Given the description of an element on the screen output the (x, y) to click on. 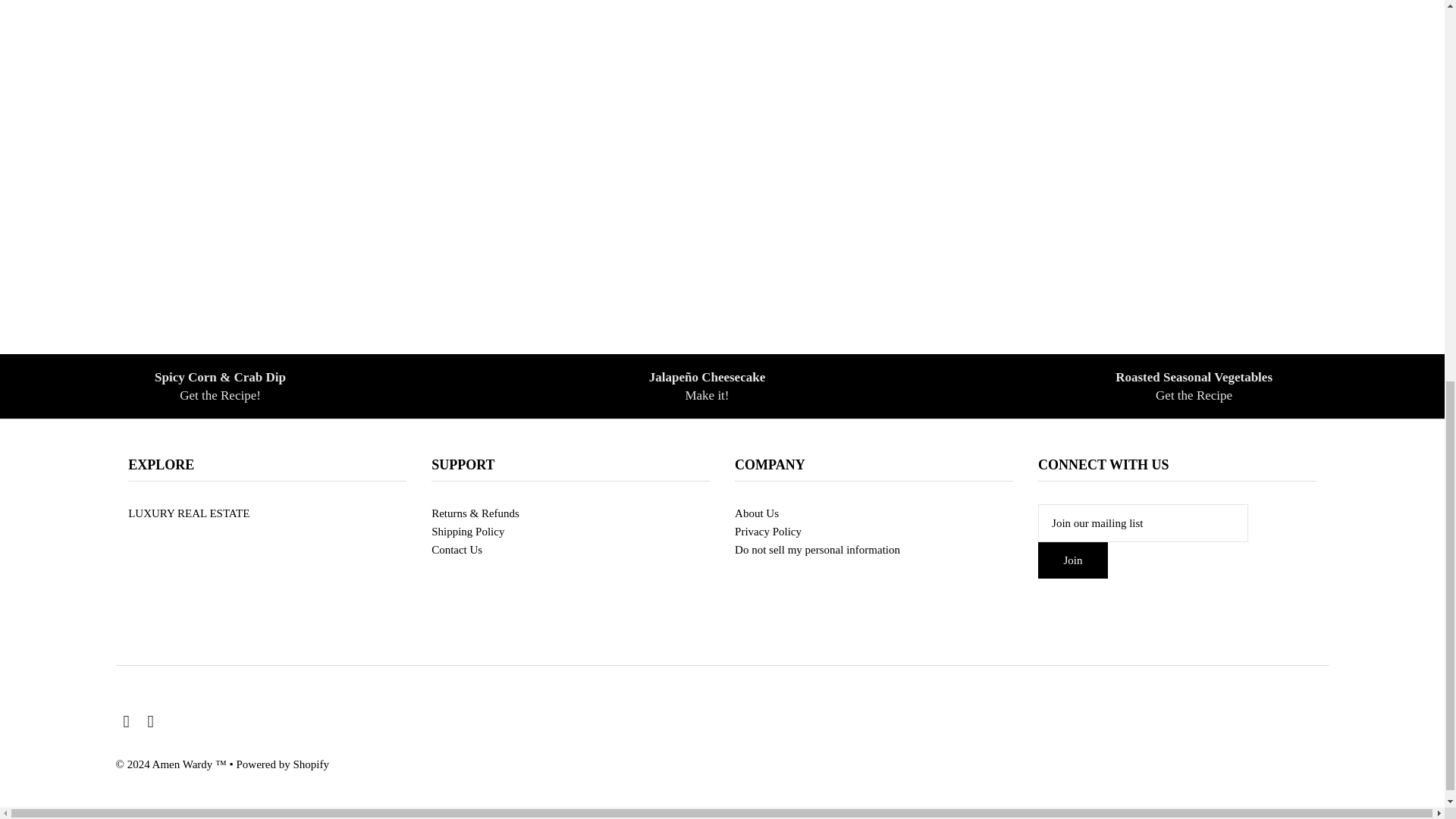
Contact Us (455, 549)
Get the Recipe (217, 395)
LUXURY REAL ESTATE (188, 512)
Make it! (706, 395)
Roasted Seasonal Vegetables (1193, 377)
Shipping Policy (466, 531)
Get the Recipe (1194, 386)
Join (1193, 395)
